Given the description of an element on the screen output the (x, y) to click on. 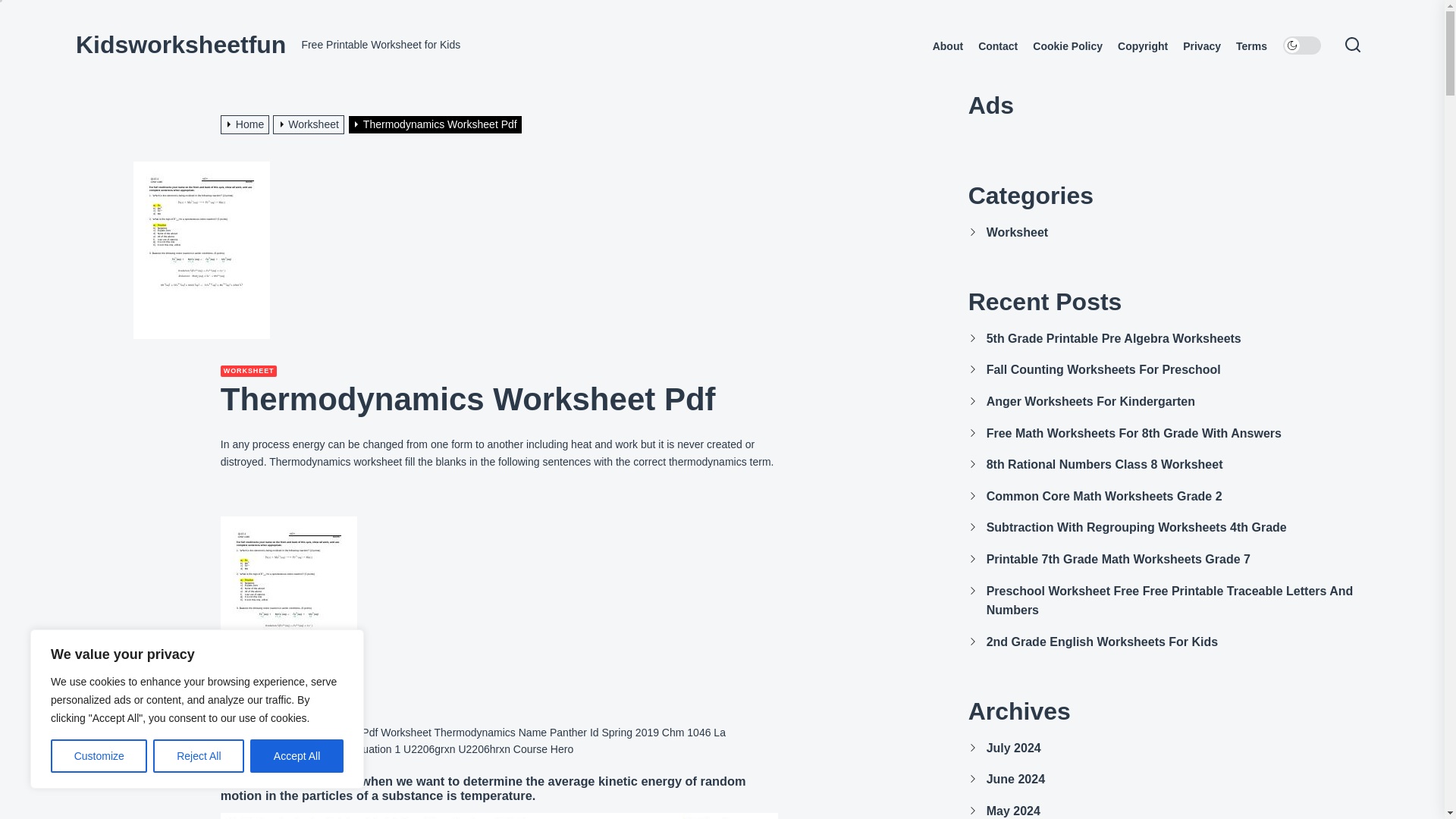
Kidsworksheetfun (180, 44)
Terms (1251, 46)
Privacy (1201, 46)
Cookie Policy (1067, 46)
About (947, 46)
Reject All (198, 756)
Contact (997, 46)
Worksheet (310, 123)
Customize (98, 756)
Accept All (296, 756)
Home (247, 123)
Thermodynamics Worksheet Pdf (436, 123)
WORKSHEET (249, 370)
Copyright (1142, 46)
